Given the description of an element on the screen output the (x, y) to click on. 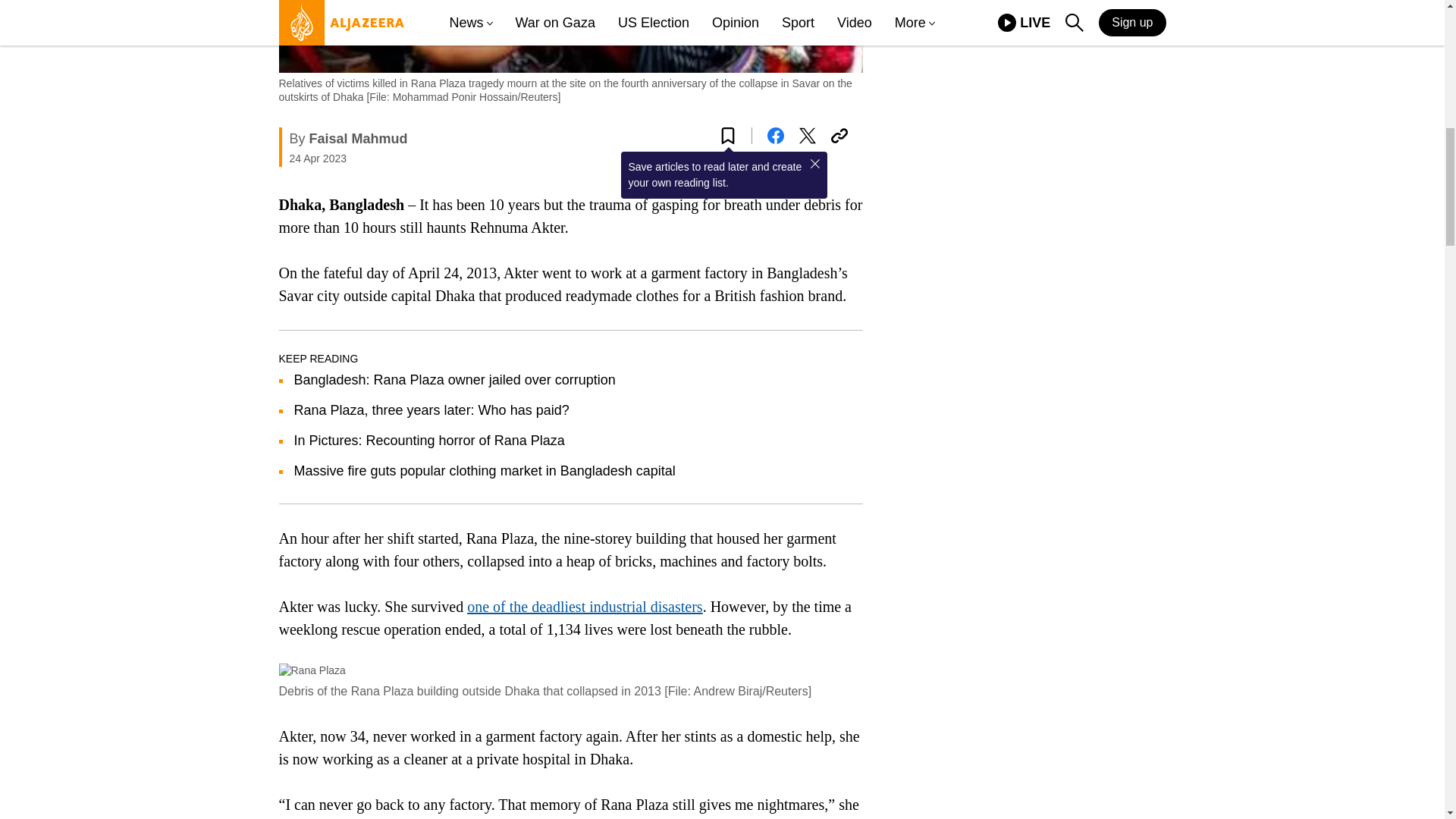
twitter (807, 135)
copylink (839, 135)
copylink (839, 135)
facebook (775, 135)
twitter (807, 135)
facebook (775, 135)
Close Tooltip (814, 163)
Faisal Mahmud (357, 138)
